Given the description of an element on the screen output the (x, y) to click on. 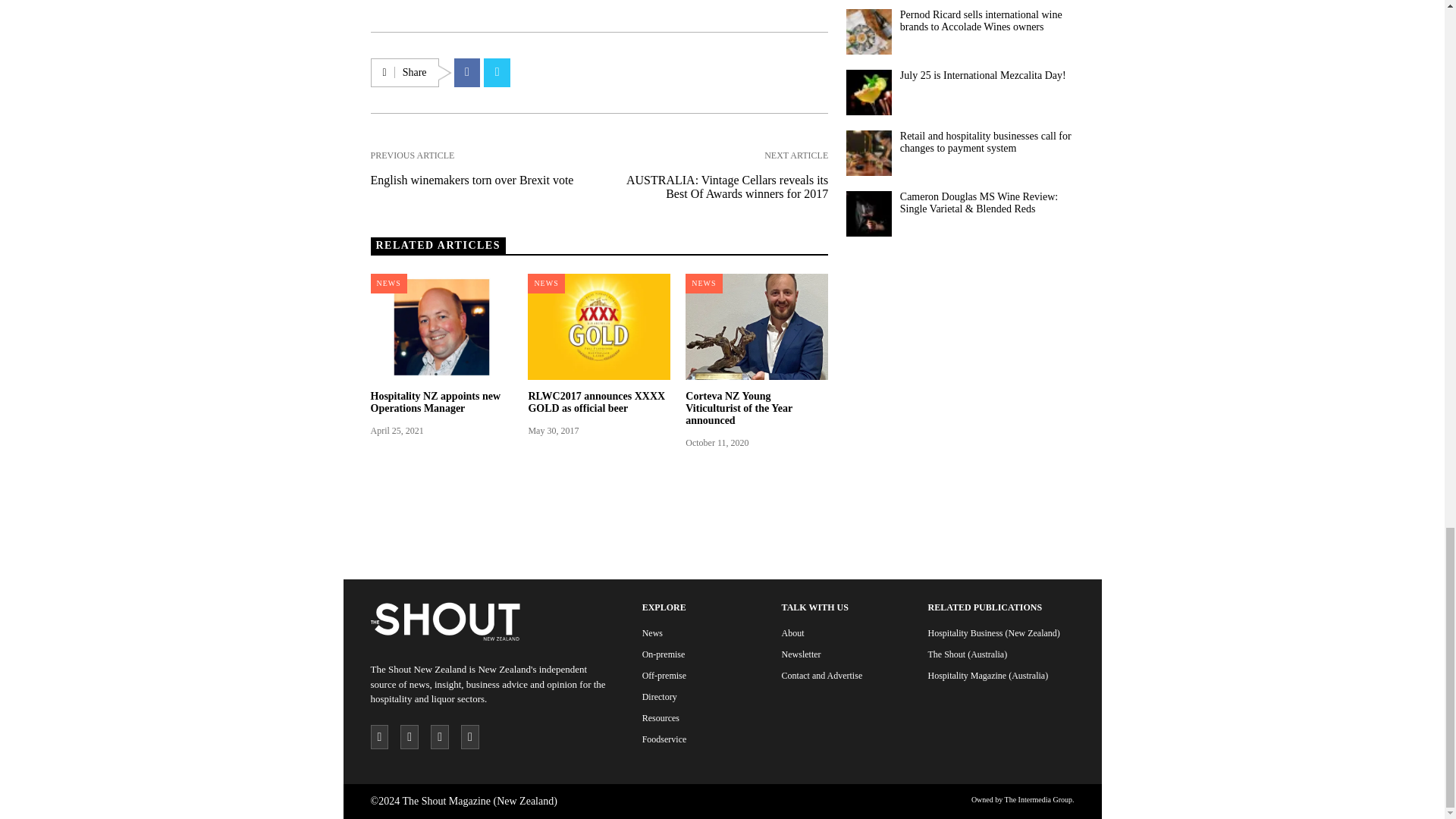
July 25 is International Mezcalita Day! (868, 92)
July 25 is International Mezcalita Day! (986, 75)
